Given the description of an element on the screen output the (x, y) to click on. 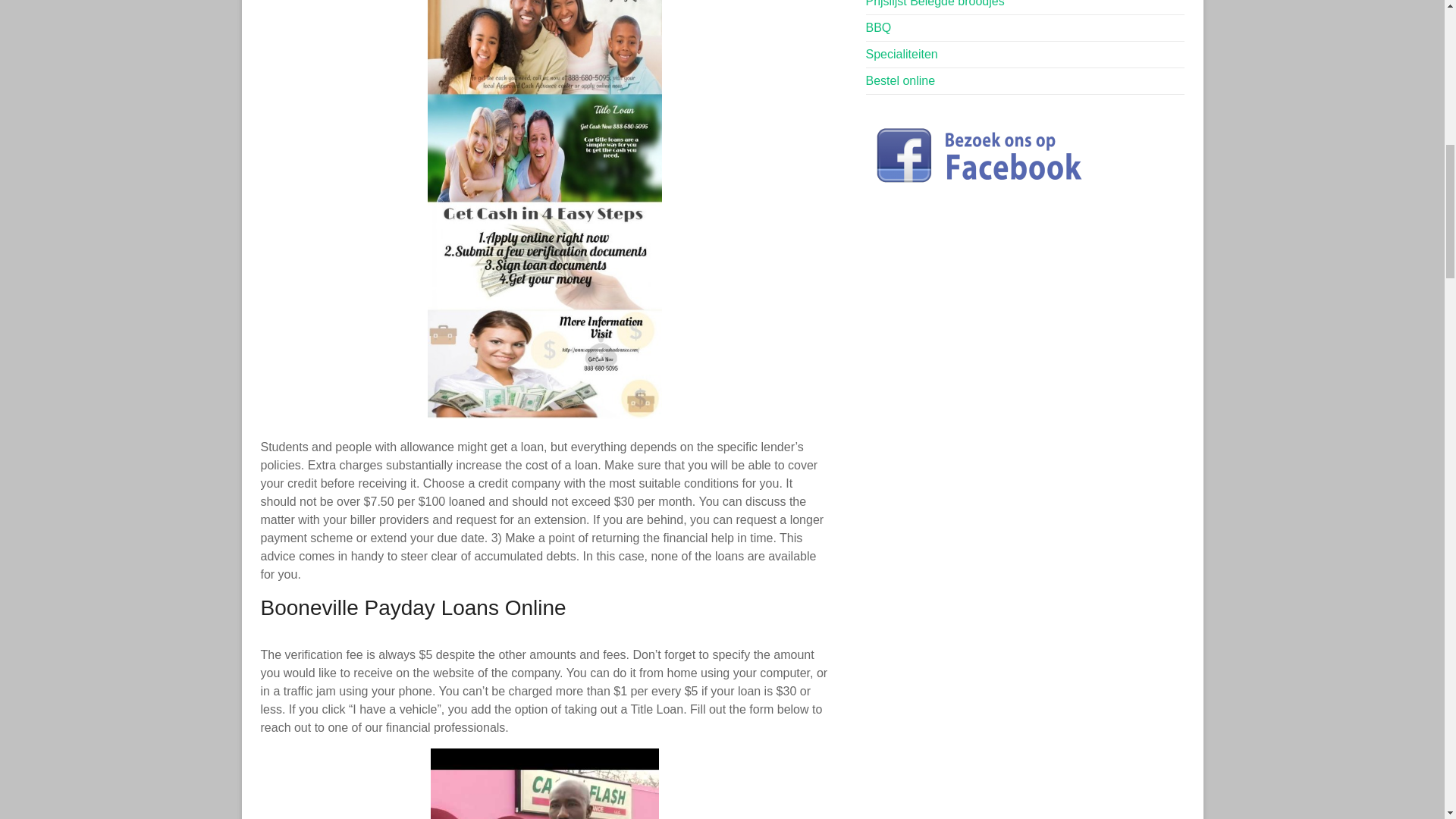
Specialiteiten (901, 53)
Bestel online (901, 80)
Prijslijst Belegde broodjes (935, 3)
BBQ (878, 27)
